Given the description of an element on the screen output the (x, y) to click on. 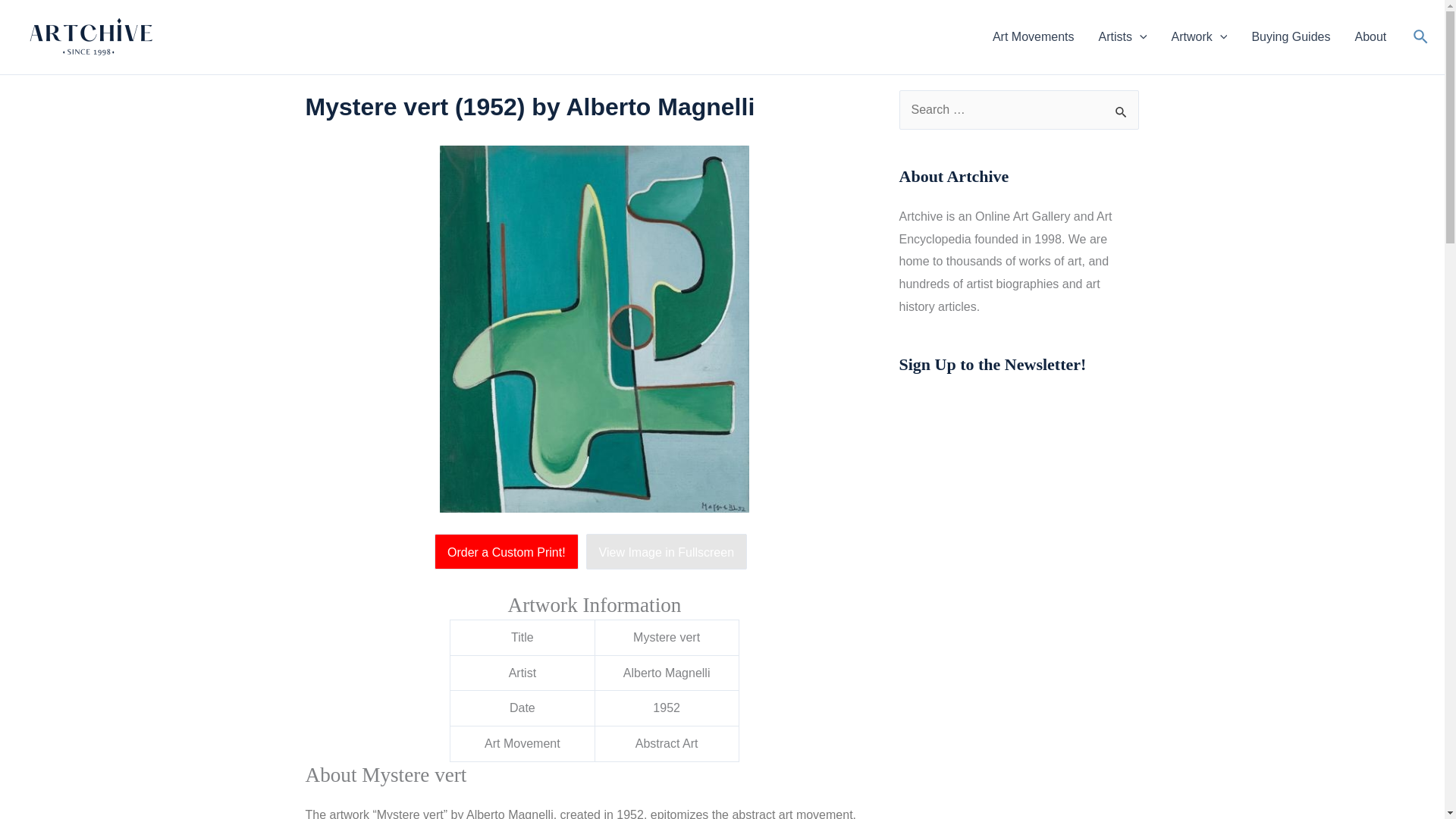
Artists (1122, 36)
Art Movements (1032, 36)
About (1369, 36)
Buying Guides (1290, 36)
Artwork (1199, 36)
Order a Custom Print! (509, 552)
